Given the description of an element on the screen output the (x, y) to click on. 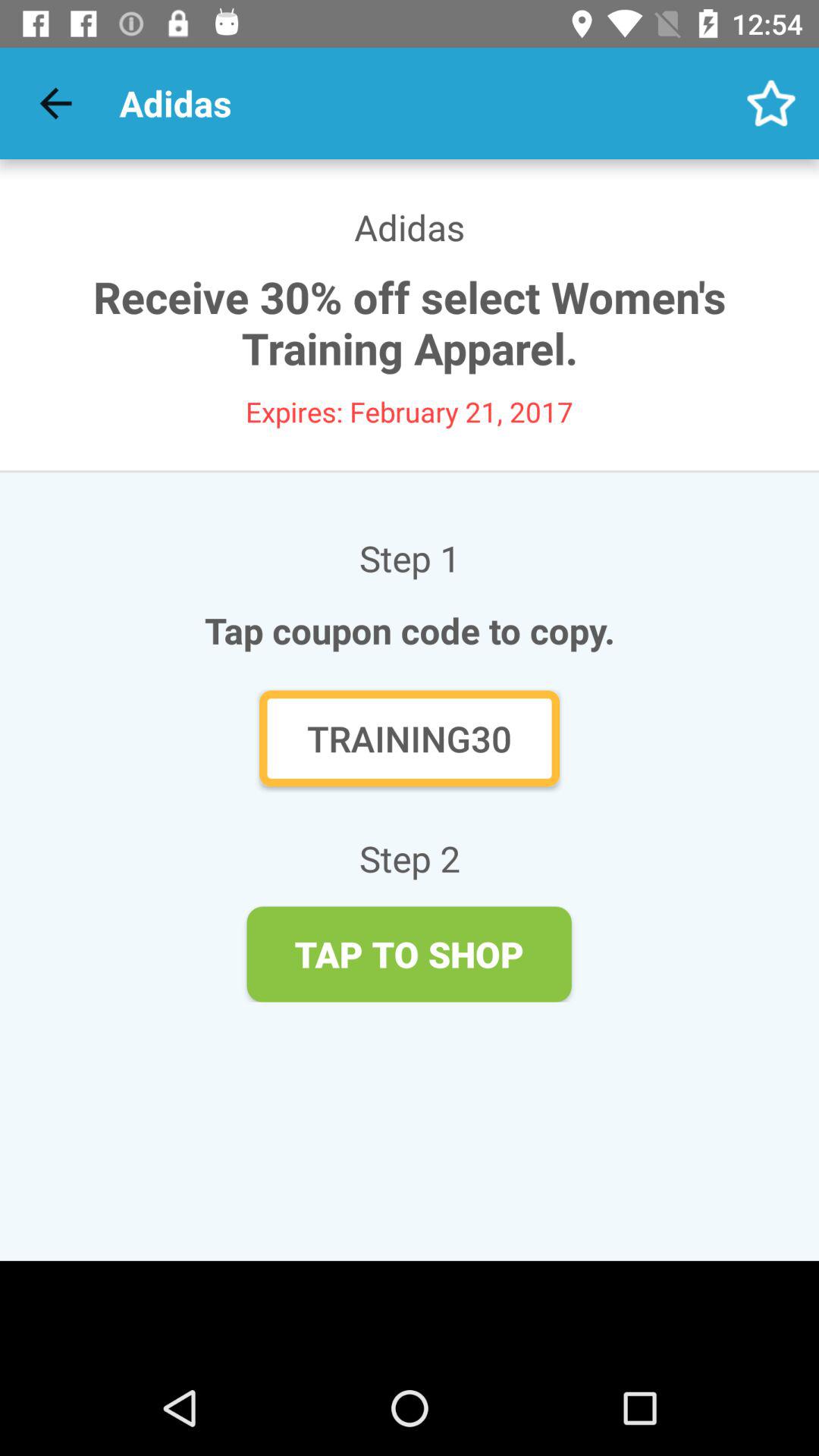
open the item above adidas icon (771, 103)
